Given the description of an element on the screen output the (x, y) to click on. 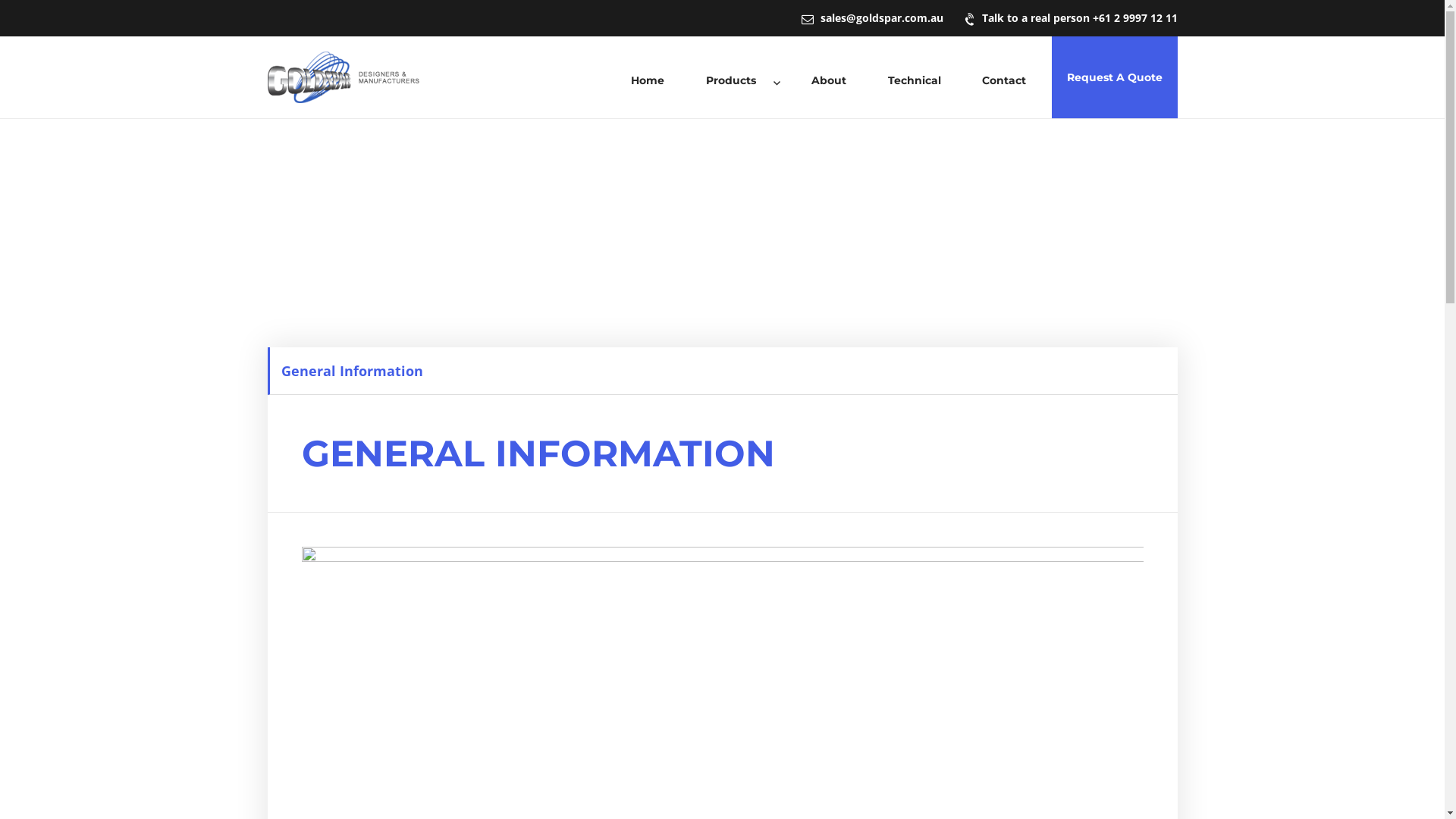
Products Element type: text (737, 82)
Contact Element type: text (1003, 82)
Request A Quote Element type: text (1113, 77)
Home Element type: text (647, 82)
Technical Element type: text (914, 82)
Talk to a real person +61 2 9997 12 11 Element type: text (1070, 17)
About Element type: text (829, 82)
sales@goldspar.com.au Element type: text (871, 17)
